Given the description of an element on the screen output the (x, y) to click on. 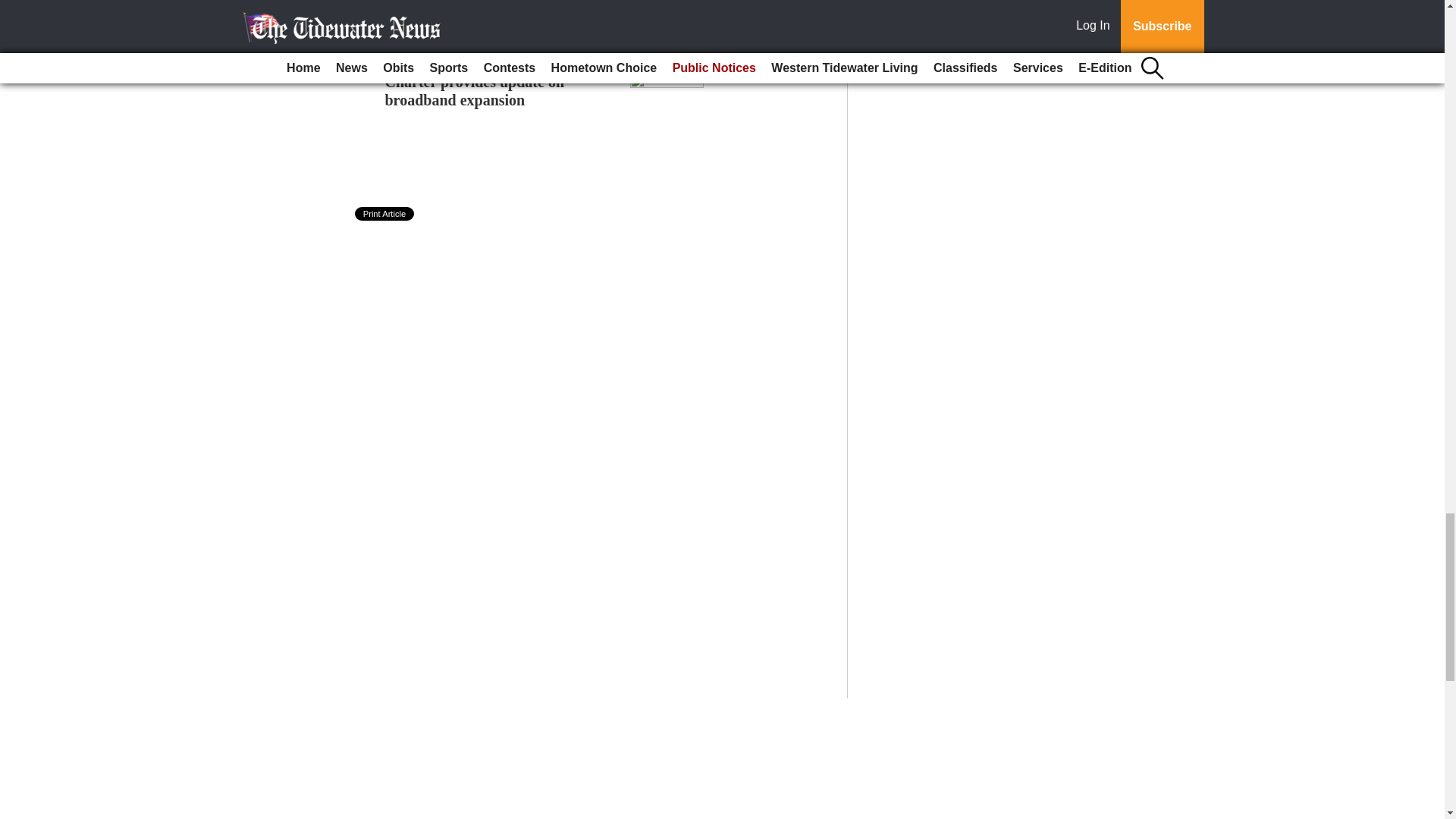
Charter provides update on broadband expansion (474, 90)
